Given the description of an element on the screen output the (x, y) to click on. 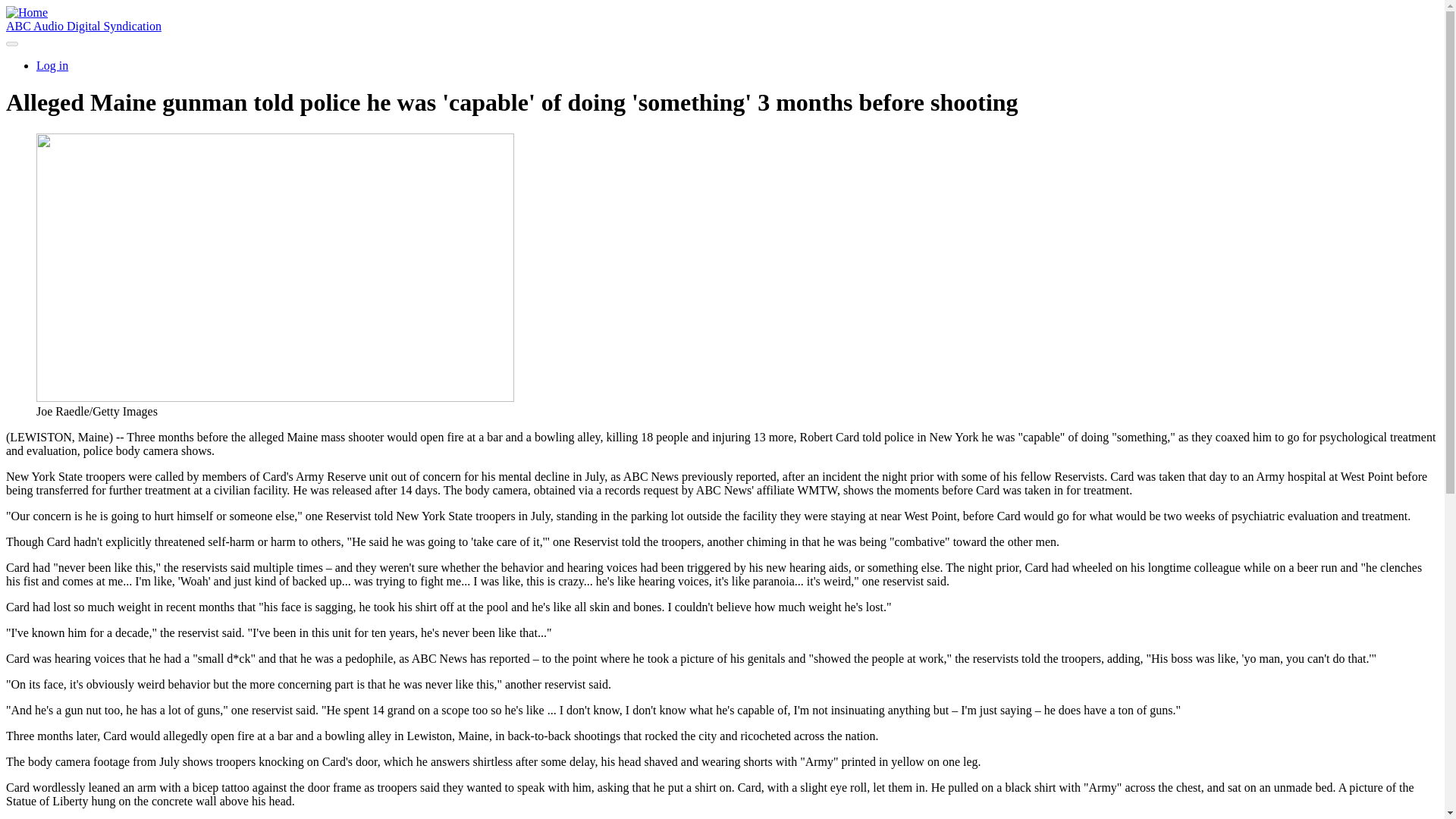
Home (26, 11)
ABC Audio Digital Syndication (83, 25)
Home (83, 25)
Log in (52, 65)
